Given the description of an element on the screen output the (x, y) to click on. 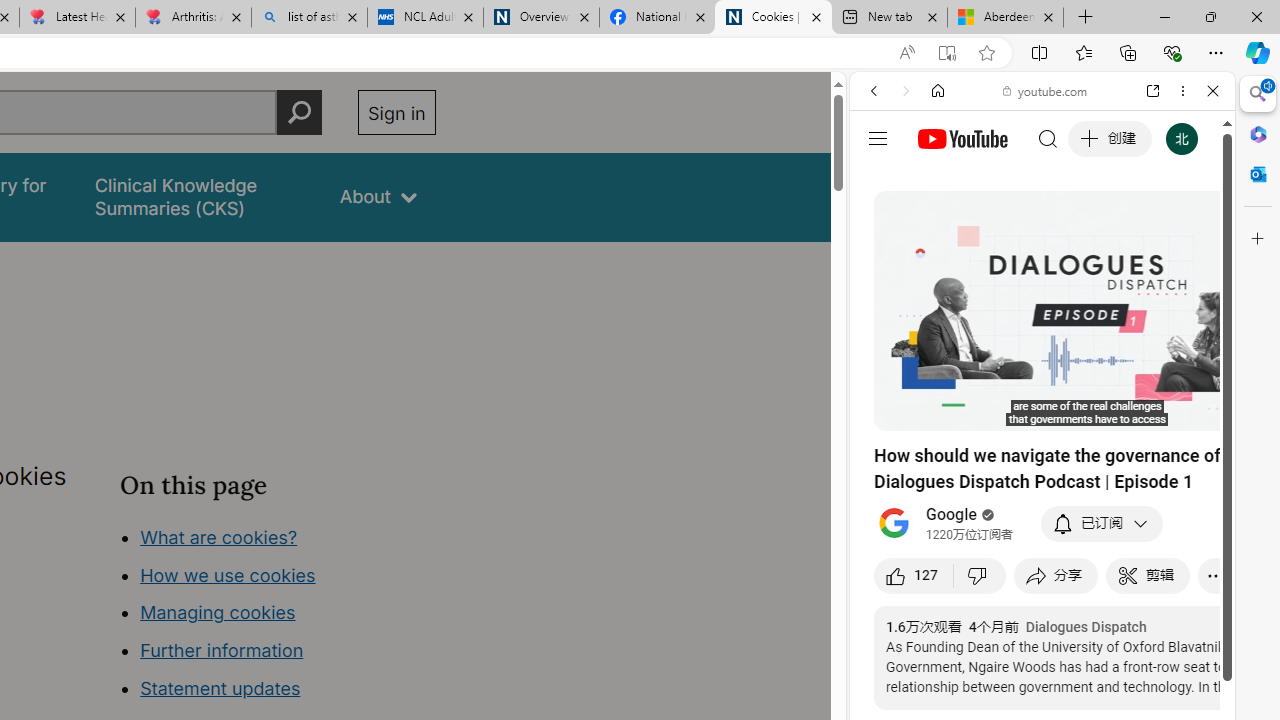
Search videos from youtube.com (1005, 657)
Trailer #2 [HD] (1042, 592)
Perform search (299, 112)
